Given the description of an element on the screen output the (x, y) to click on. 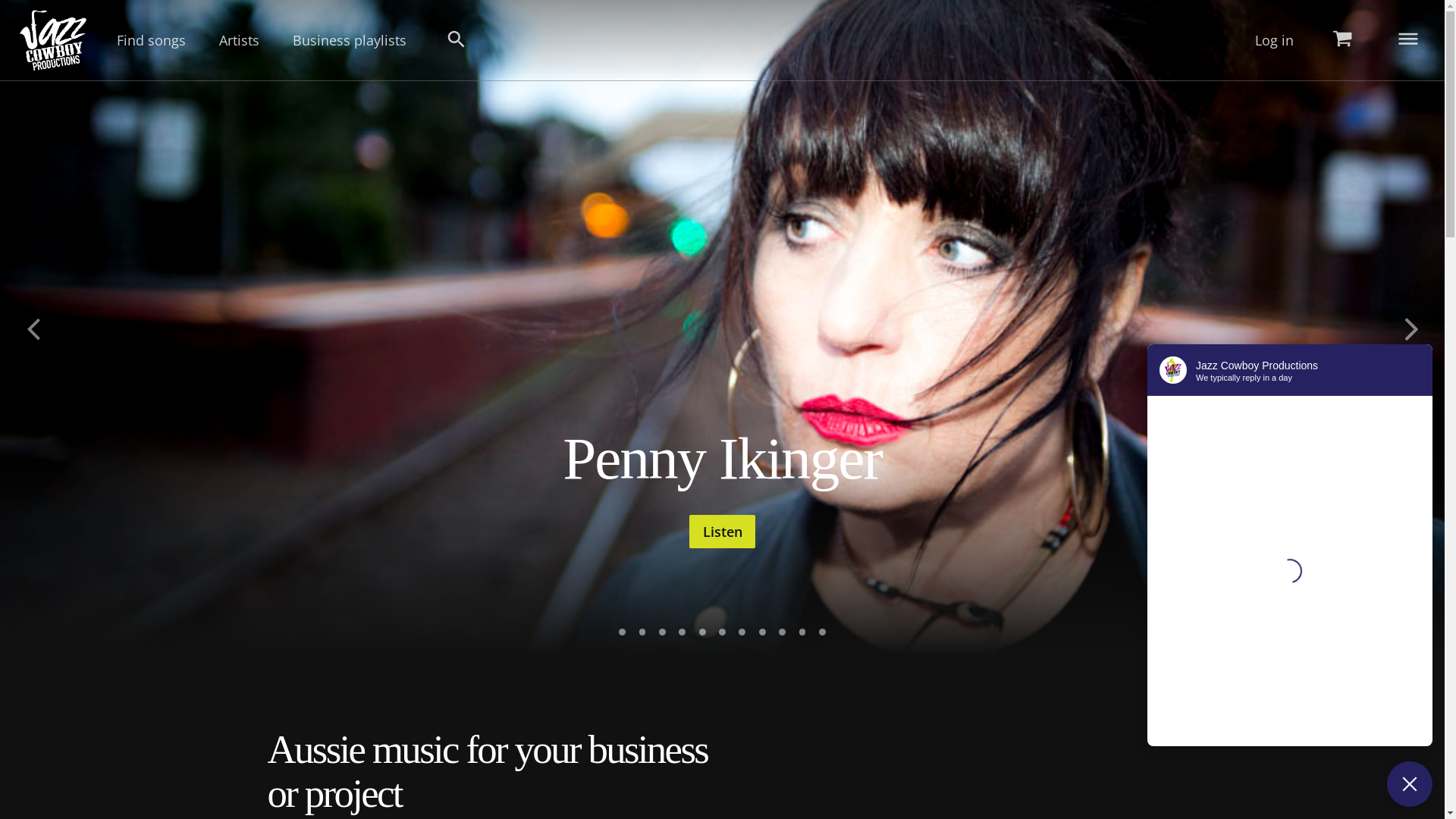
Artists Element type: text (239, 39)
Penny Ikinger Element type: text (721, 457)
Listen Element type: text (722, 531)
Business playlists Element type: text (349, 39)
Log in Element type: text (1274, 40)
Find songs Element type: text (150, 39)
